Given the description of an element on the screen output the (x, y) to click on. 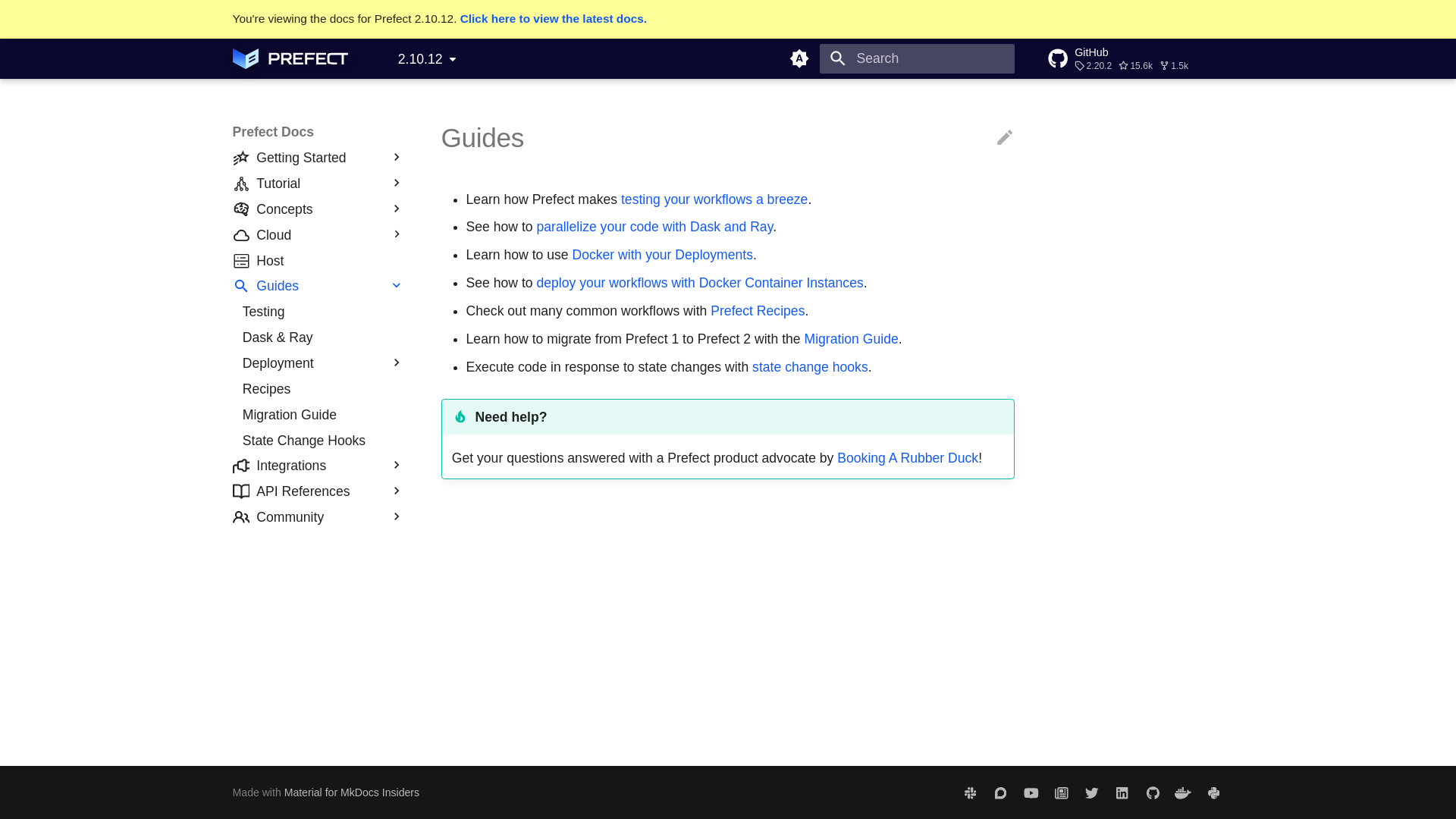
Prefect Docs (290, 58)
Click here to view the latest docs. (553, 18)
discourse.prefect.io (1000, 791)
www.prefect.io (970, 791)
twitter.com (1091, 791)
www.linkedin.com (1121, 791)
github.com (1152, 791)
Go to repository (1135, 58)
prefect.io (1061, 791)
2.10.12 (426, 59)
